Given the description of an element on the screen output the (x, y) to click on. 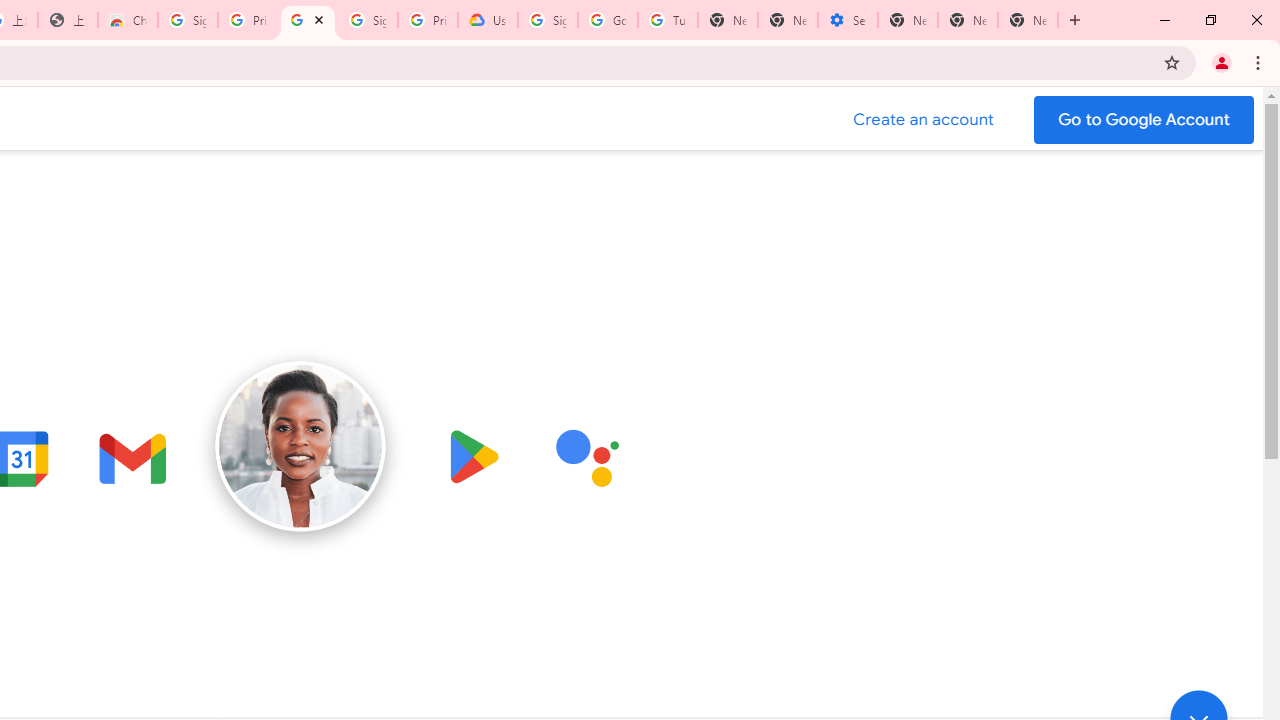
Sign in - Google Accounts (548, 20)
Chrome Web Store - Color themes by Chrome (127, 20)
Settings - System (847, 20)
Sign in - Google Accounts (187, 20)
